Given the description of an element on the screen output the (x, y) to click on. 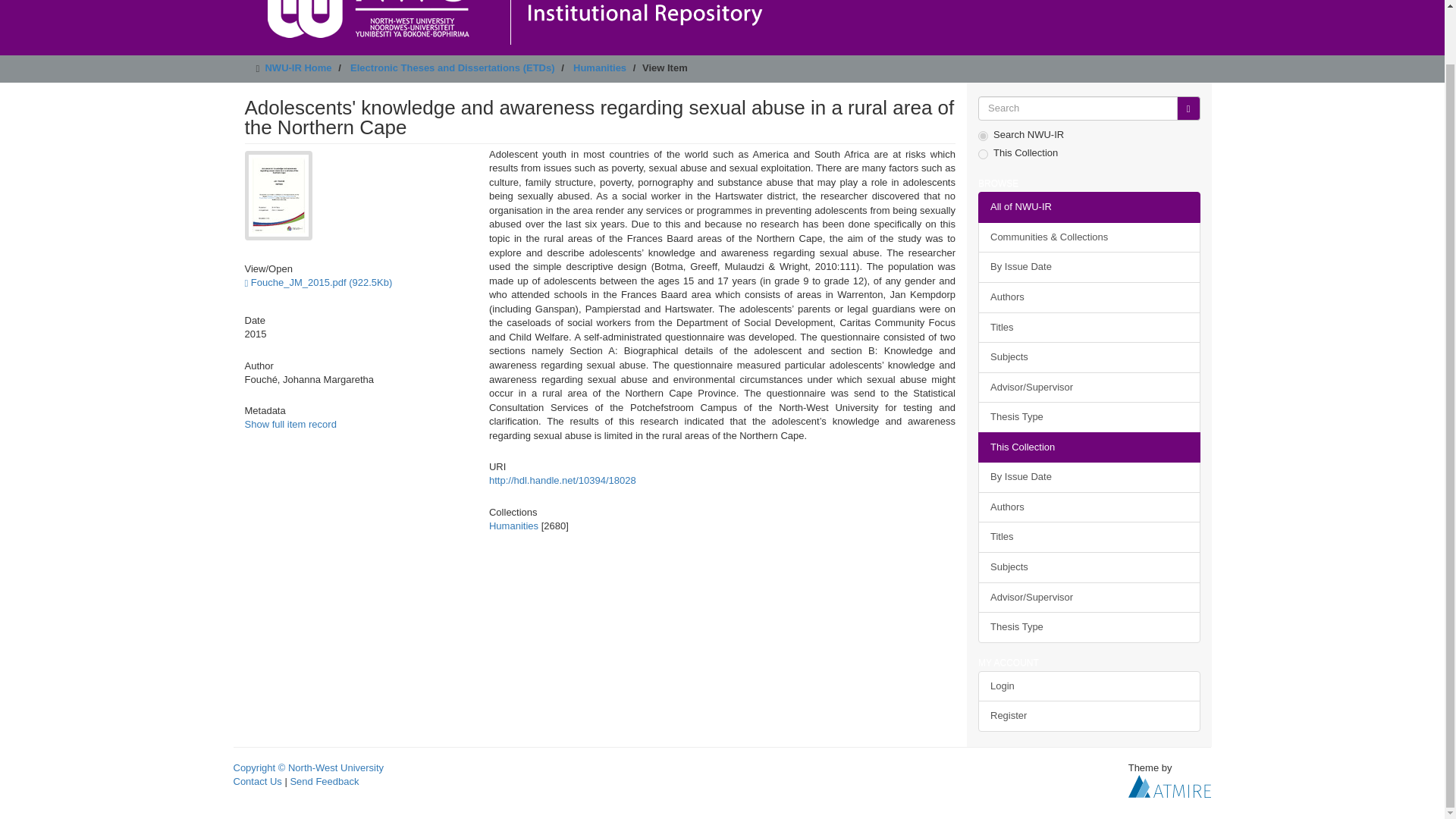
Humanities (599, 67)
Thesis Type (1088, 626)
Show full item record (290, 423)
Atmire NV (1169, 785)
Subjects (1088, 357)
Authors (1088, 507)
Thesis Type (1088, 417)
Titles (1088, 327)
This Collection (1088, 447)
Subjects (1088, 567)
Authors (1088, 296)
Titles (1088, 536)
Register (1088, 716)
Login (1088, 685)
Humanities (513, 525)
